Given the description of an element on the screen output the (x, y) to click on. 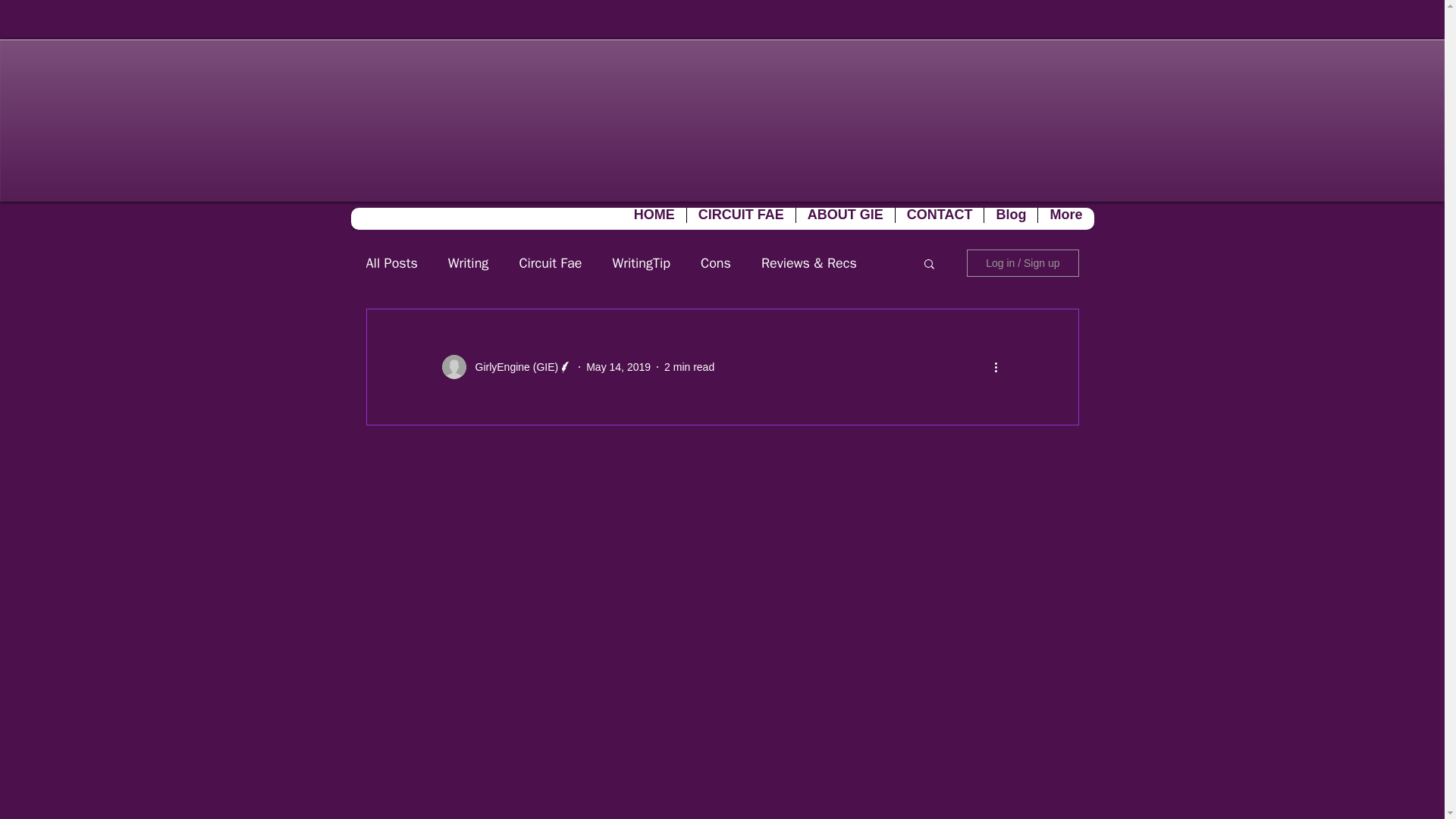
Circuit Fae (549, 262)
Writing (468, 262)
HOME (654, 219)
2 min read (688, 367)
WritingTip (640, 262)
CIRCUIT FAE (739, 219)
CONTACT (939, 219)
ABOUT GIE (844, 219)
Cons (715, 262)
May 14, 2019 (618, 367)
Blog (1010, 219)
All Posts (390, 262)
